Given the description of an element on the screen output the (x, y) to click on. 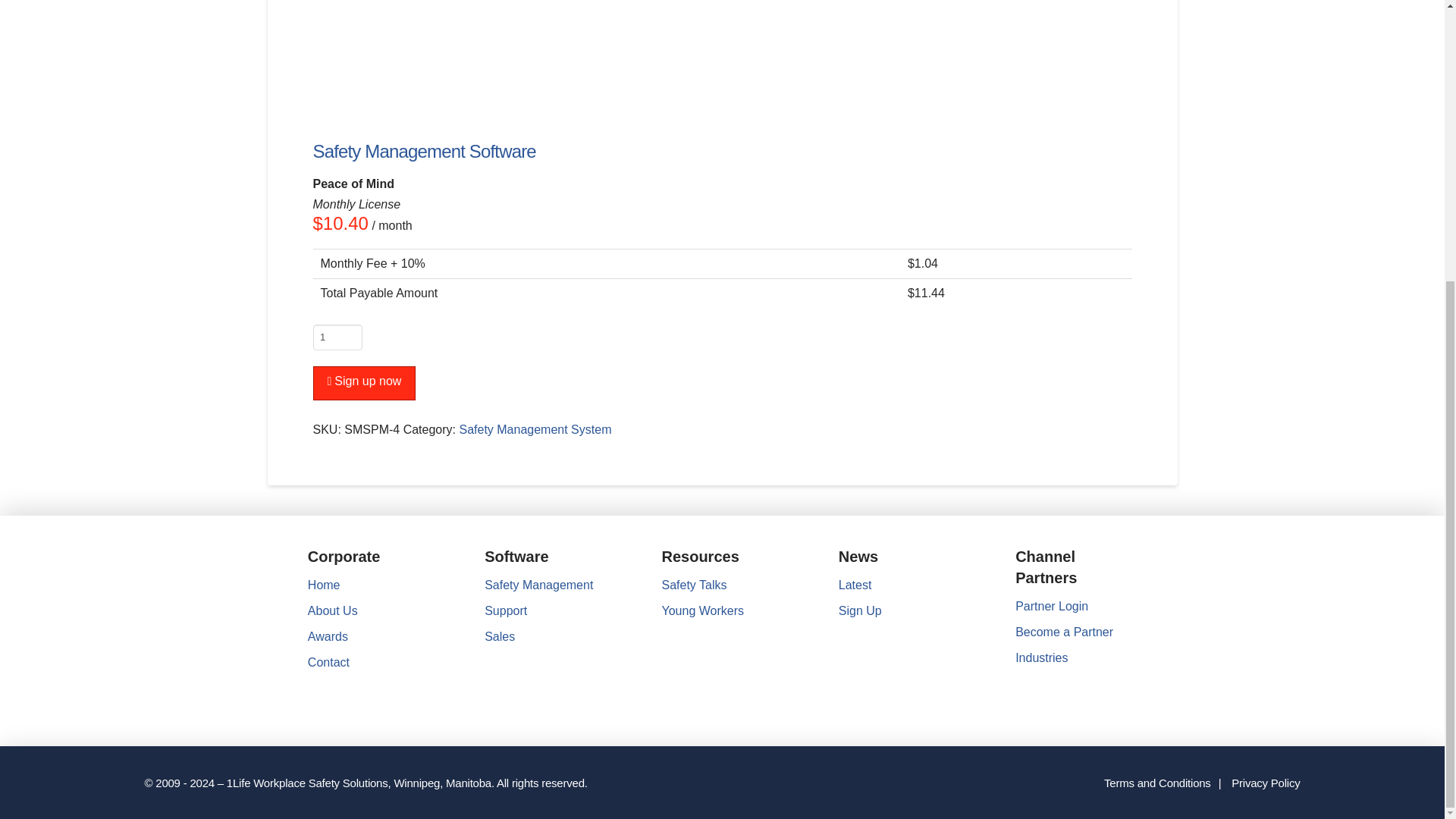
Safety Talks (693, 584)
Become a Partner (1063, 631)
Contact (328, 662)
Awards (327, 635)
Safety Management System (534, 429)
Sign Up (860, 610)
Sign up now (363, 383)
About Us (332, 610)
Support (505, 610)
Safety Management (538, 584)
Latest (855, 584)
Home (323, 584)
Sales (499, 635)
1 (337, 337)
Industries (1040, 657)
